Given the description of an element on the screen output the (x, y) to click on. 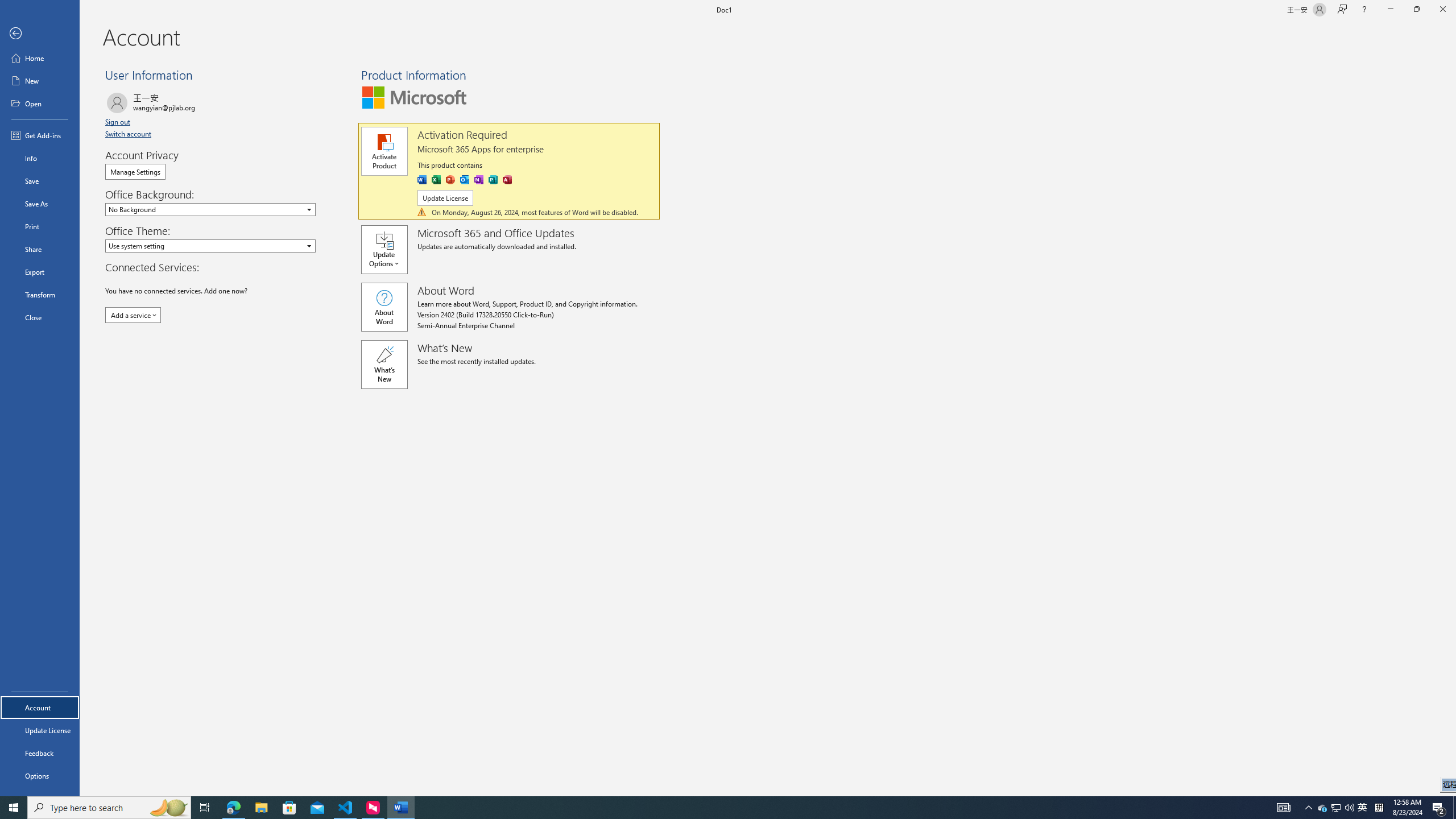
Feedback (40, 753)
Info (40, 157)
Sign out (118, 121)
Update License (40, 730)
Update Options (389, 249)
Manage Settings (134, 171)
Options (40, 775)
About Word (384, 306)
Save As (40, 203)
